Given the description of an element on the screen output the (x, y) to click on. 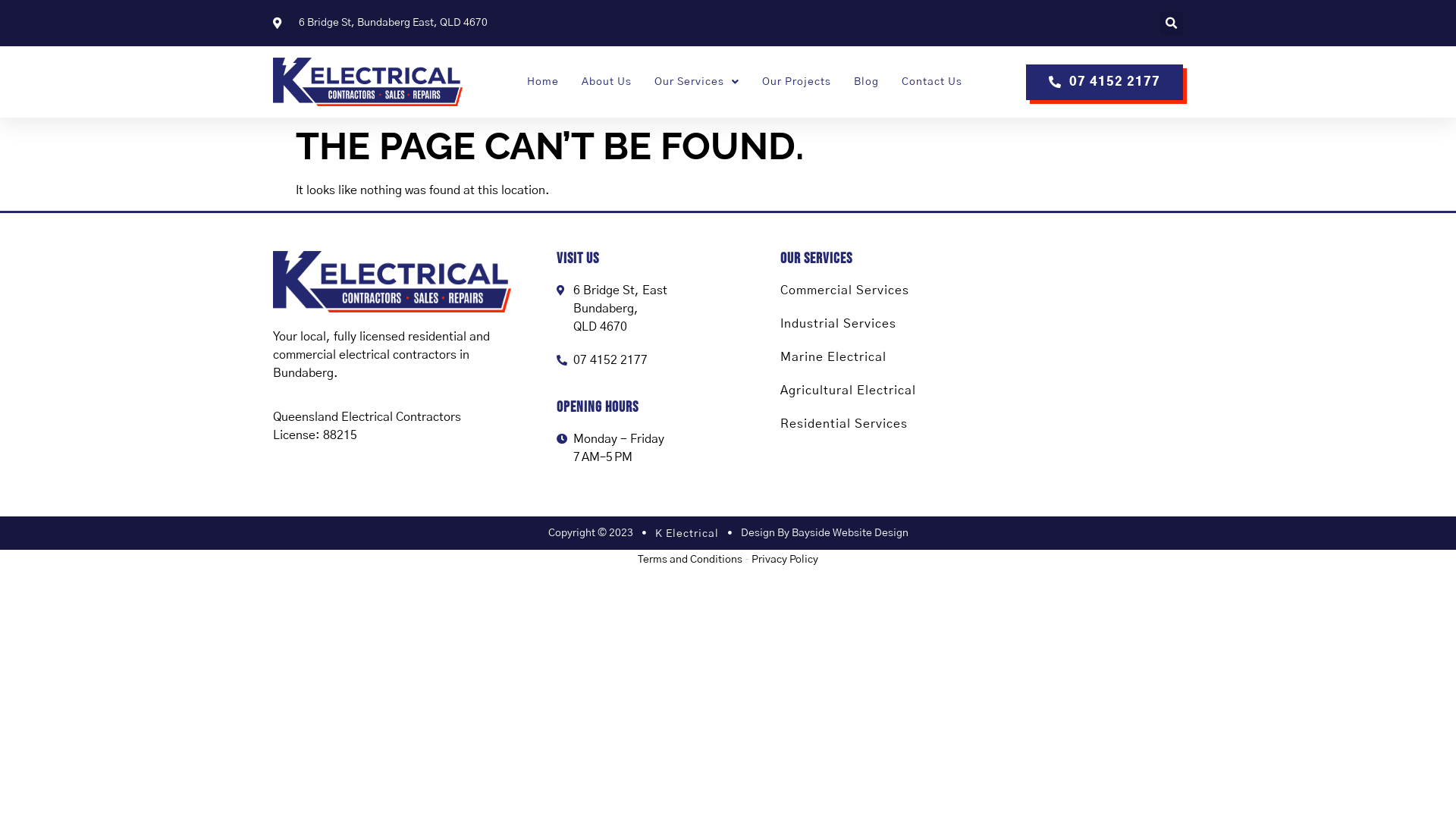
07 4152 2177 Element type: text (645, 360)
Agricultural Electrical Element type: text (848, 390)
Bayside Website Design Element type: text (849, 532)
6 Bridge St, East Bundaberg,QLD 4670 Element type: hover (1093, 364)
Residential Services Element type: text (843, 423)
Marine Electrical Element type: text (833, 357)
Home Element type: text (542, 81)
Contact Us Element type: text (930, 81)
Our Projects Element type: text (795, 81)
Our Services Element type: text (695, 81)
Privacy Policy Element type: text (784, 559)
Commercial Services Element type: text (844, 290)
Terms and Conditions Element type: text (689, 559)
07 4152 2177 Element type: text (1104, 82)
Industrial Services Element type: text (838, 323)
Blog Element type: text (865, 81)
K Electrical Element type: text (686, 533)
About Us Element type: text (605, 81)
